Given the description of an element on the screen output the (x, y) to click on. 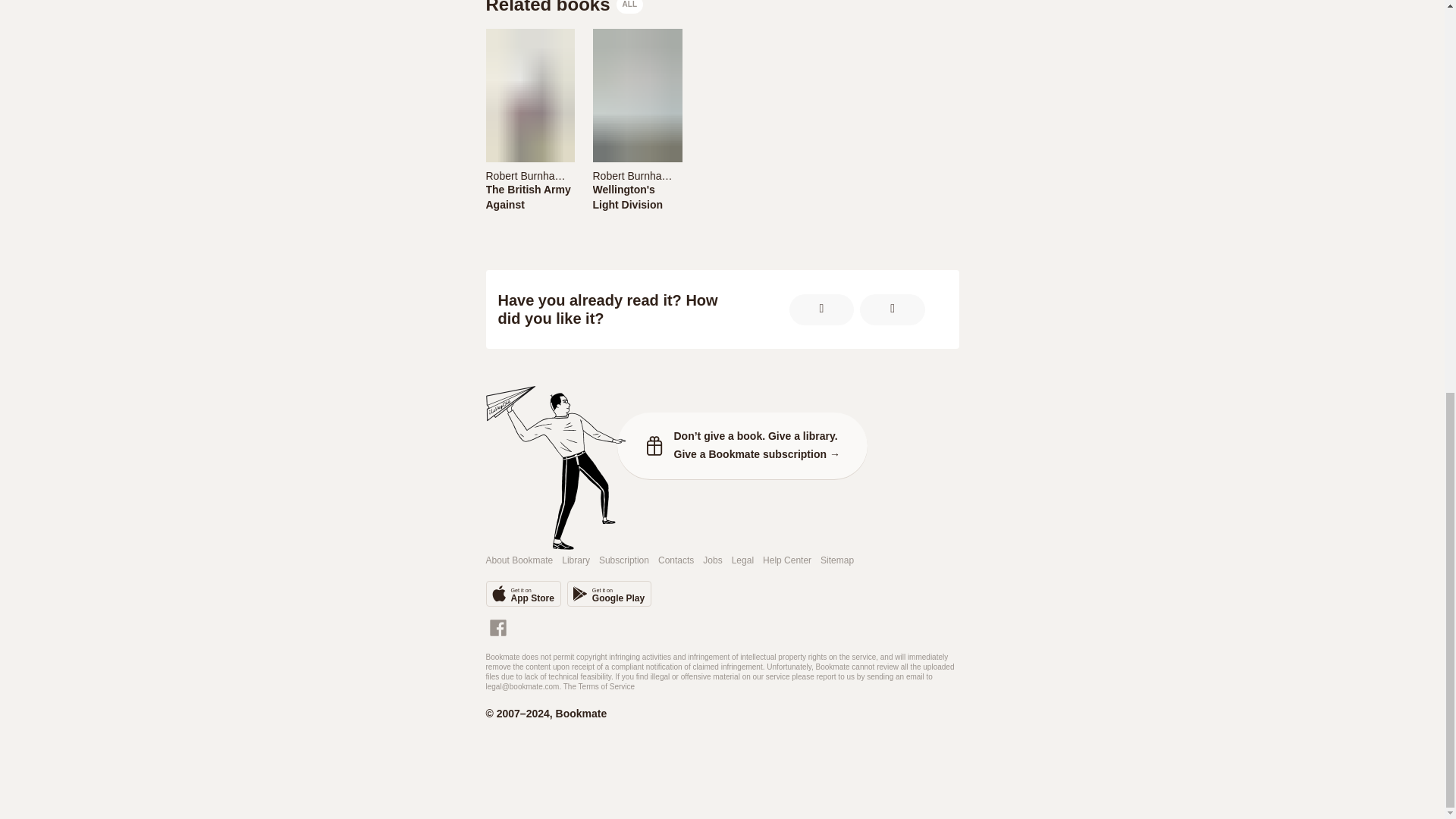
The British Army Against Napoleon (528, 196)
Jobs (712, 560)
Wellington's Light Division and the Defence of Portugal (636, 196)
Robert Burnham (524, 175)
Wellington's Light Division and the Defence of Portugal (636, 211)
Subscription (623, 560)
Legal (743, 560)
The British Army Against Napoleon (528, 204)
Ron McGuigan (713, 175)
Library (575, 560)
